Given the description of an element on the screen output the (x, y) to click on. 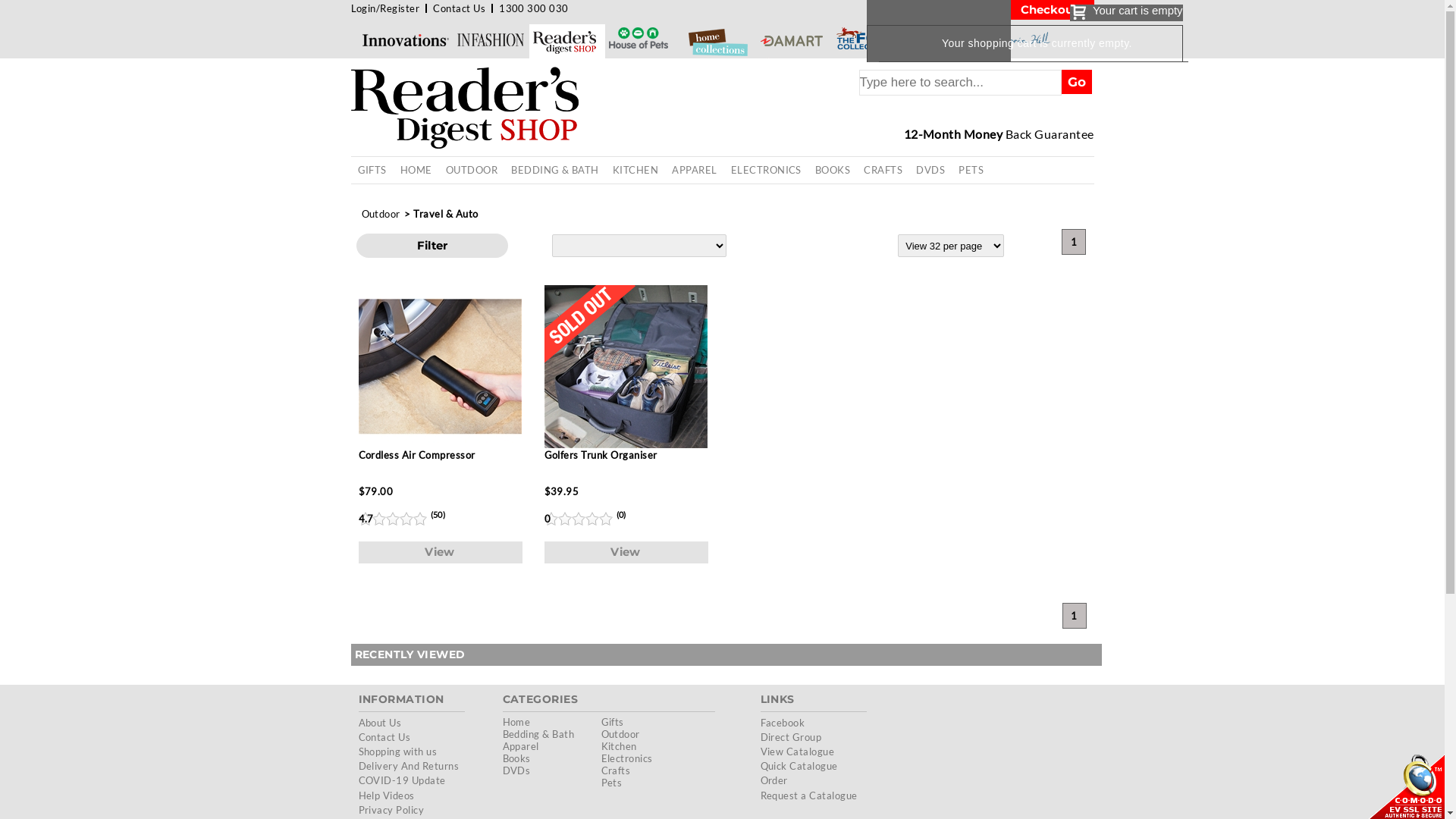
Golfers Trunk Organiser Element type: text (625, 381)
DVDS Element type: text (930, 169)
1 Element type: text (1073, 241)
Go Element type: text (1076, 81)
Pets Element type: text (610, 782)
GIFTS Element type: text (371, 169)
Direct Group Element type: text (790, 737)
Contact Us Element type: text (459, 8)
Home Element type: text (516, 721)
HOME Element type: text (416, 169)
View Element type: text (625, 552)
DVDs Element type: text (516, 770)
Request a Catalogue Element type: text (807, 795)
Kitchen Element type: text (618, 746)
Crafts Element type: text (615, 770)
Gifts Element type: text (611, 721)
BOOKS Element type: text (832, 169)
View Element type: text (438, 552)
COVID-19 Update Element type: text (401, 780)
Books Element type: text (516, 758)
Privacy Policy Element type: text (390, 809)
About Us Element type: text (379, 722)
Outdoor Element type: text (619, 734)
Help Videos Element type: text (385, 795)
KITCHEN Element type: text (635, 169)
OUTDOOR Element type: text (471, 169)
Checkout > Element type: text (1051, 9)
View Catalogue Element type: text (796, 751)
Your cart is empty Element type: text (1126, 12)
Apparel Element type: text (520, 746)
BEDDING & BATH Element type: text (554, 169)
APPAREL Element type: text (694, 169)
Login/Register Element type: text (384, 8)
CRAFTS Element type: text (882, 169)
Quick Catalogue Order Element type: text (798, 772)
1 Element type: text (1073, 615)
Outdoor Element type: text (380, 213)
Cordless Air Compressor Element type: text (438, 381)
ELECTRONICS Element type: text (766, 169)
Shopping with us Element type: text (396, 751)
Facebook Element type: text (781, 722)
Electronics Element type: text (626, 758)
Delivery And Returns Element type: text (407, 765)
Bedding & Bath Element type: text (538, 734)
PETS Element type: text (970, 169)
Contact Us Element type: text (383, 737)
